Given the description of an element on the screen output the (x, y) to click on. 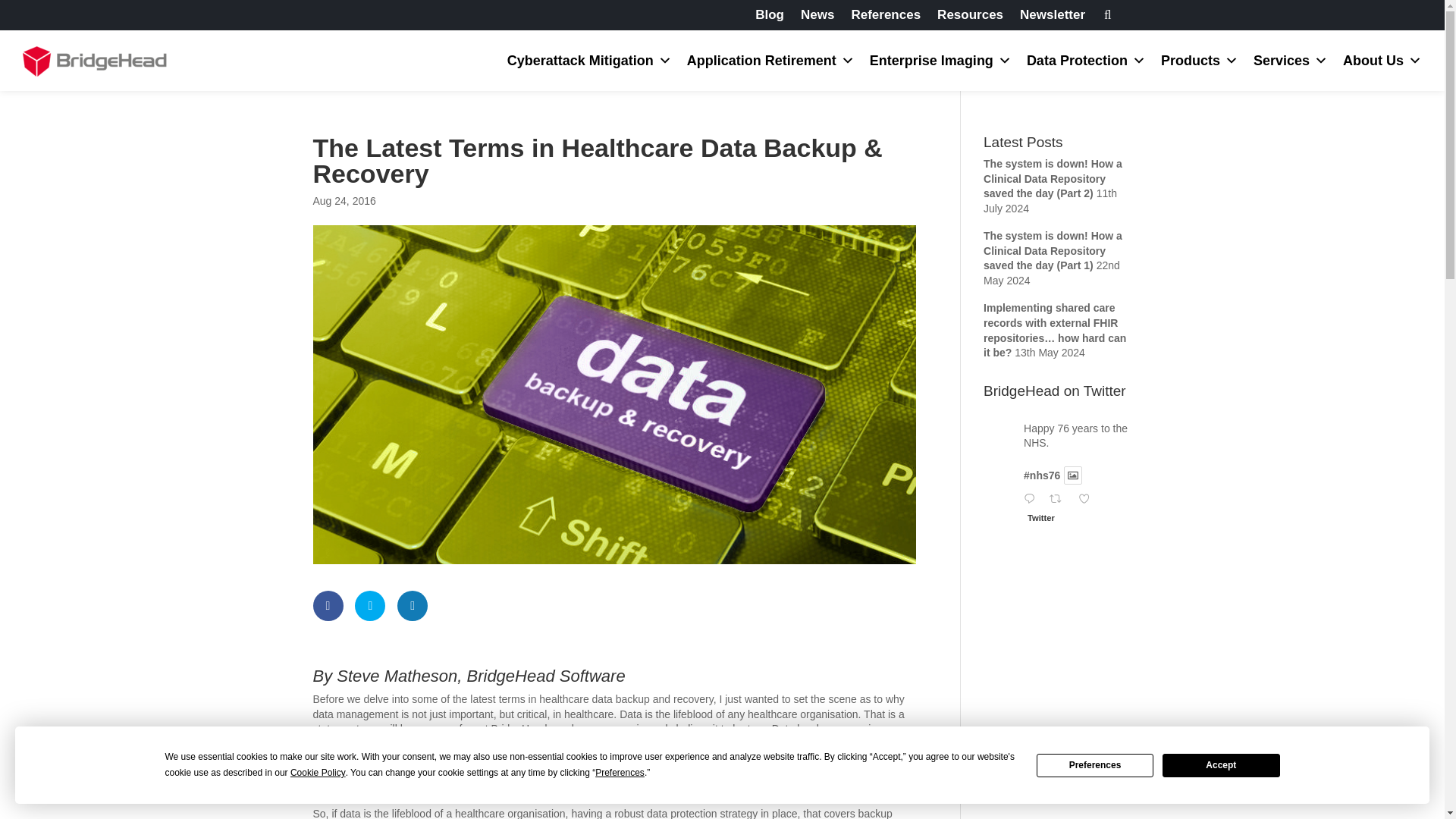
Preferences (1094, 765)
Resources (970, 17)
References (885, 17)
Application Retirement (770, 60)
Enterprise Imaging (940, 60)
Cyberattack Mitigation (589, 60)
Blog (769, 17)
News (817, 17)
Data Protection (1086, 60)
Newsletter (1052, 17)
Accept (1220, 765)
Products (1199, 60)
Services (1290, 60)
